Given the description of an element on the screen output the (x, y) to click on. 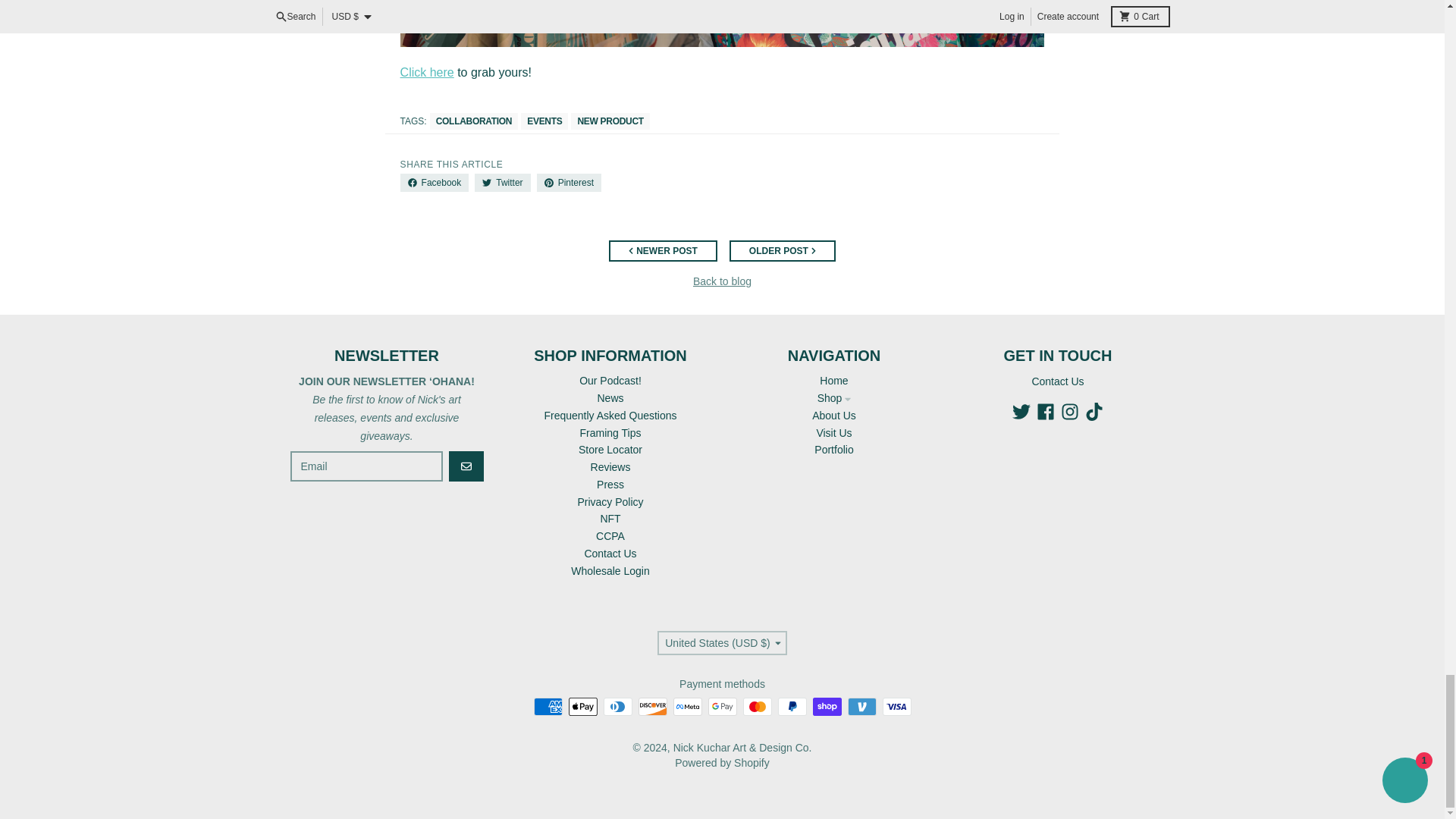
Go to Nick Kuchar Surfer Towel Collection (427, 72)
